Given the description of an element on the screen output the (x, y) to click on. 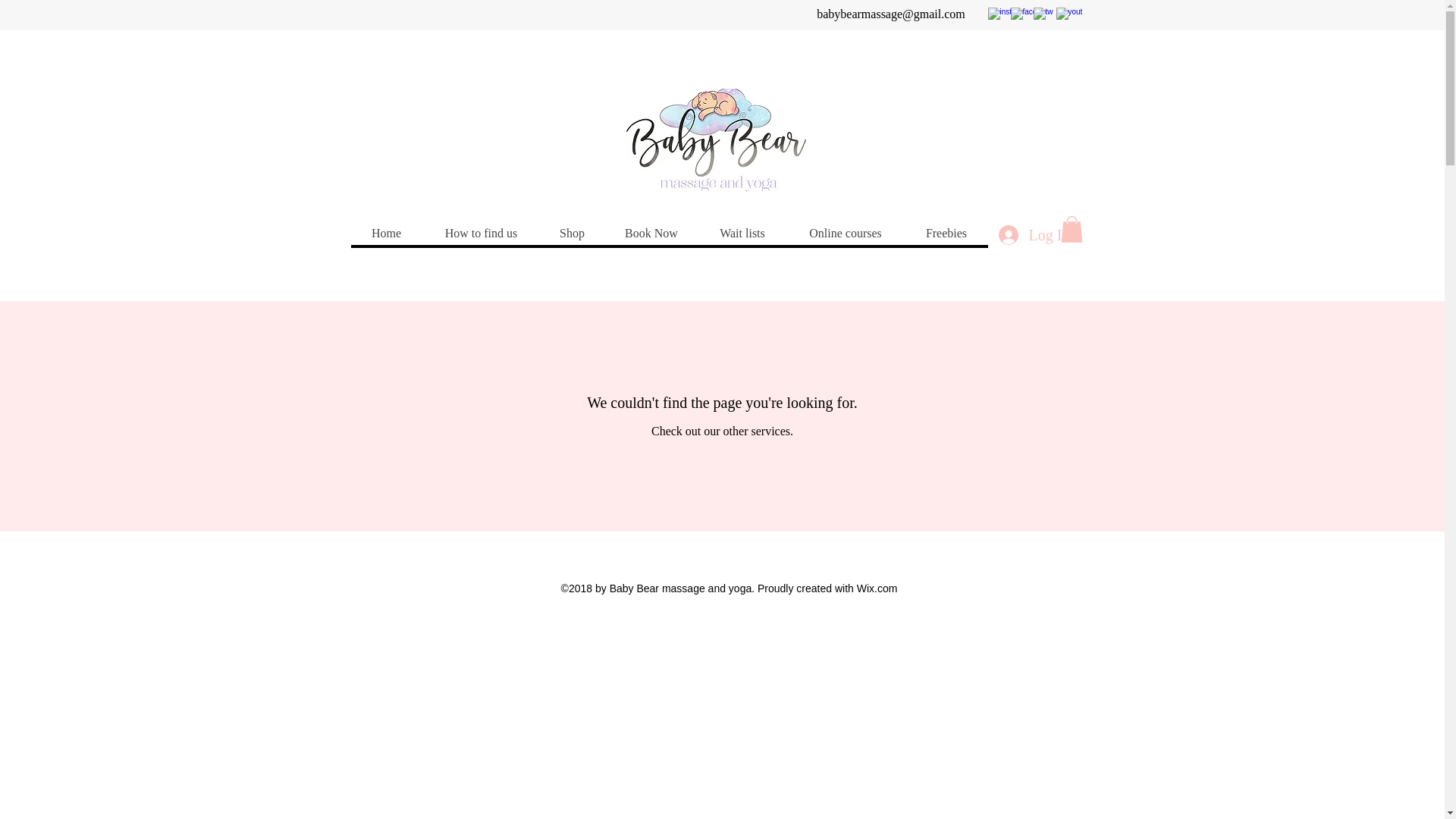
Wait lists (741, 232)
Home (386, 232)
How to find us (480, 232)
Shop (572, 232)
Book Now (650, 232)
Log In (1032, 234)
